Given the description of an element on the screen output the (x, y) to click on. 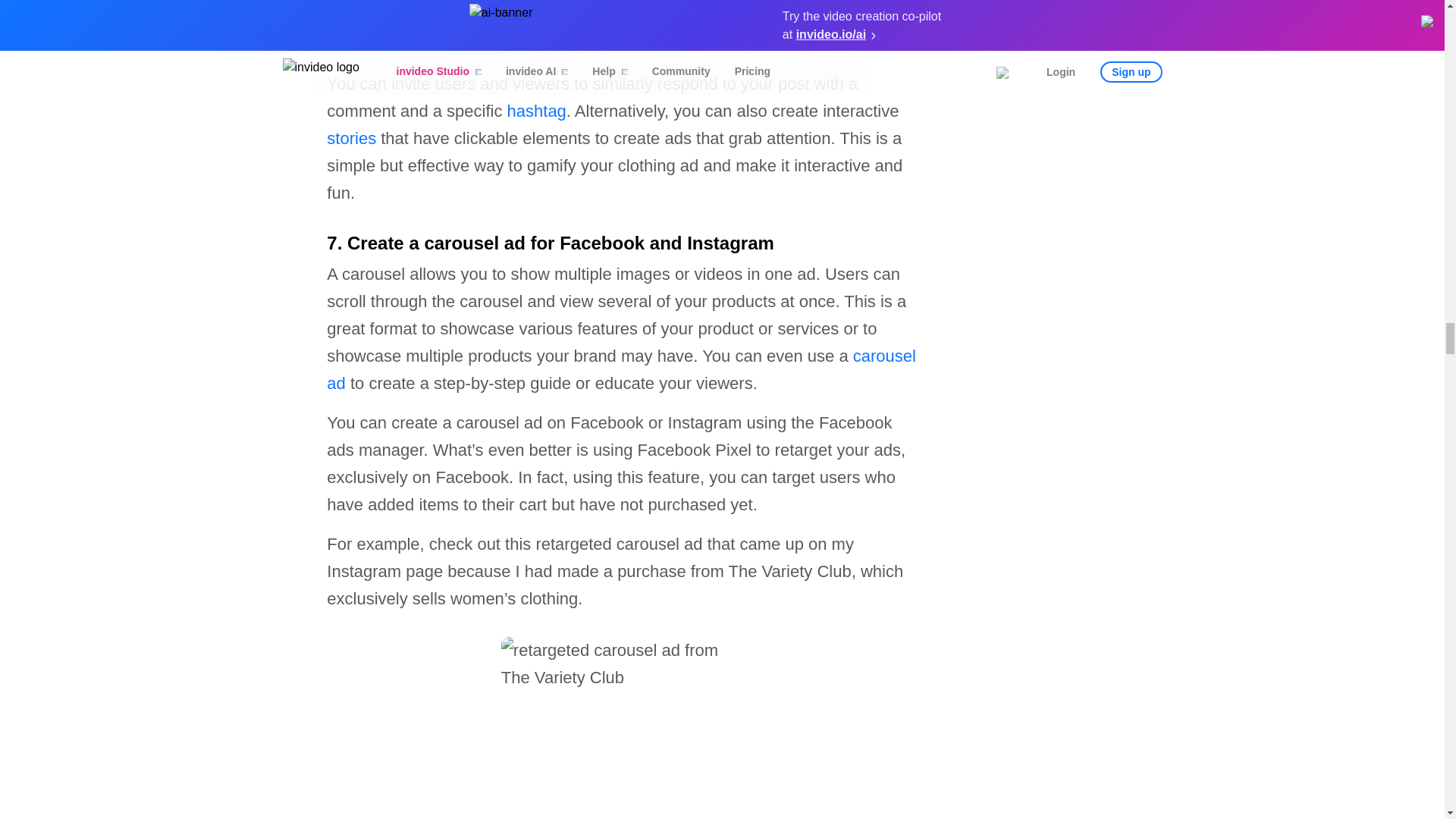
stories (350, 138)
hashtag (536, 110)
carousel ad (620, 369)
